Given the description of an element on the screen output the (x, y) to click on. 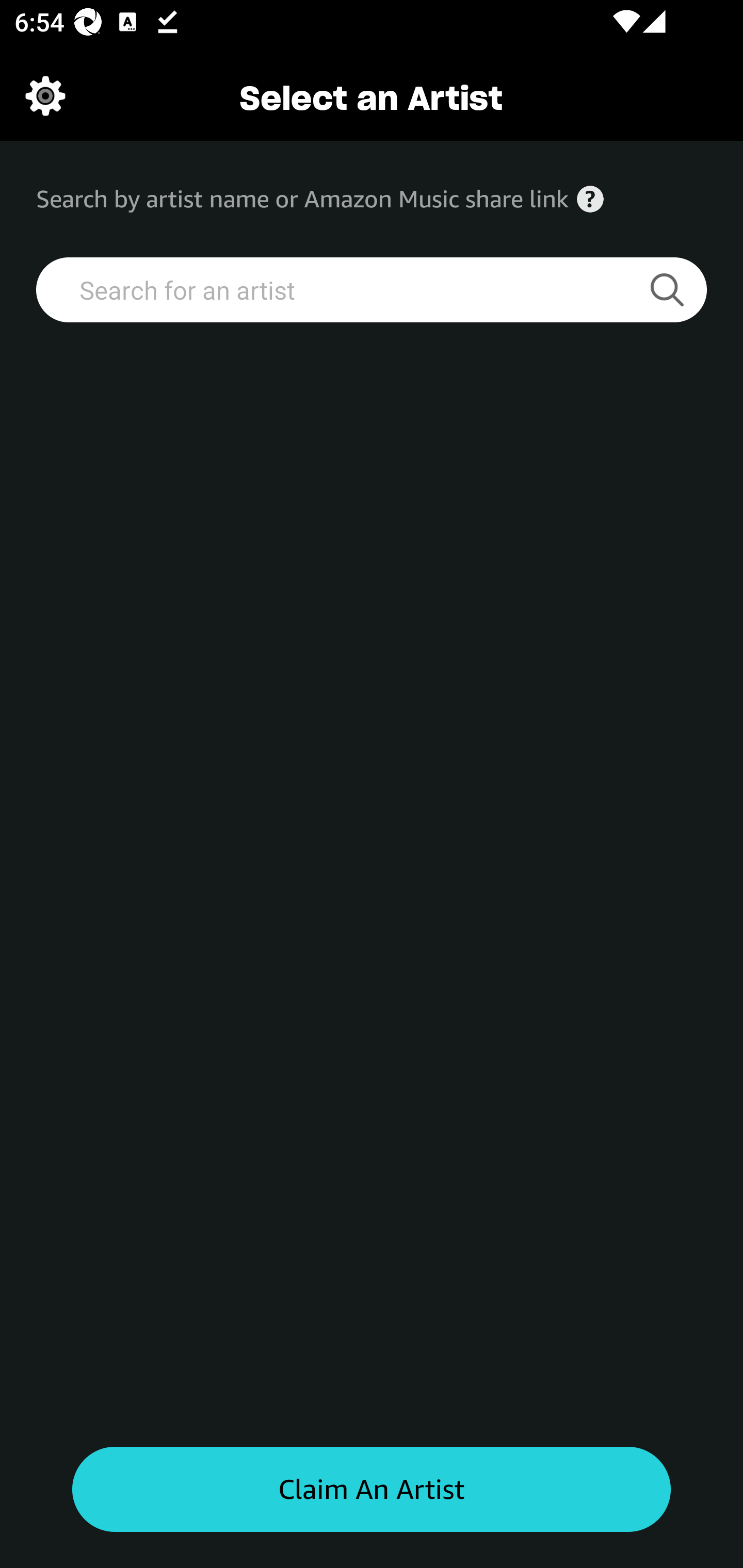
Help  icon (589, 199)
Claim an artist button Claim An Artist (371, 1489)
